Given the description of an element on the screen output the (x, y) to click on. 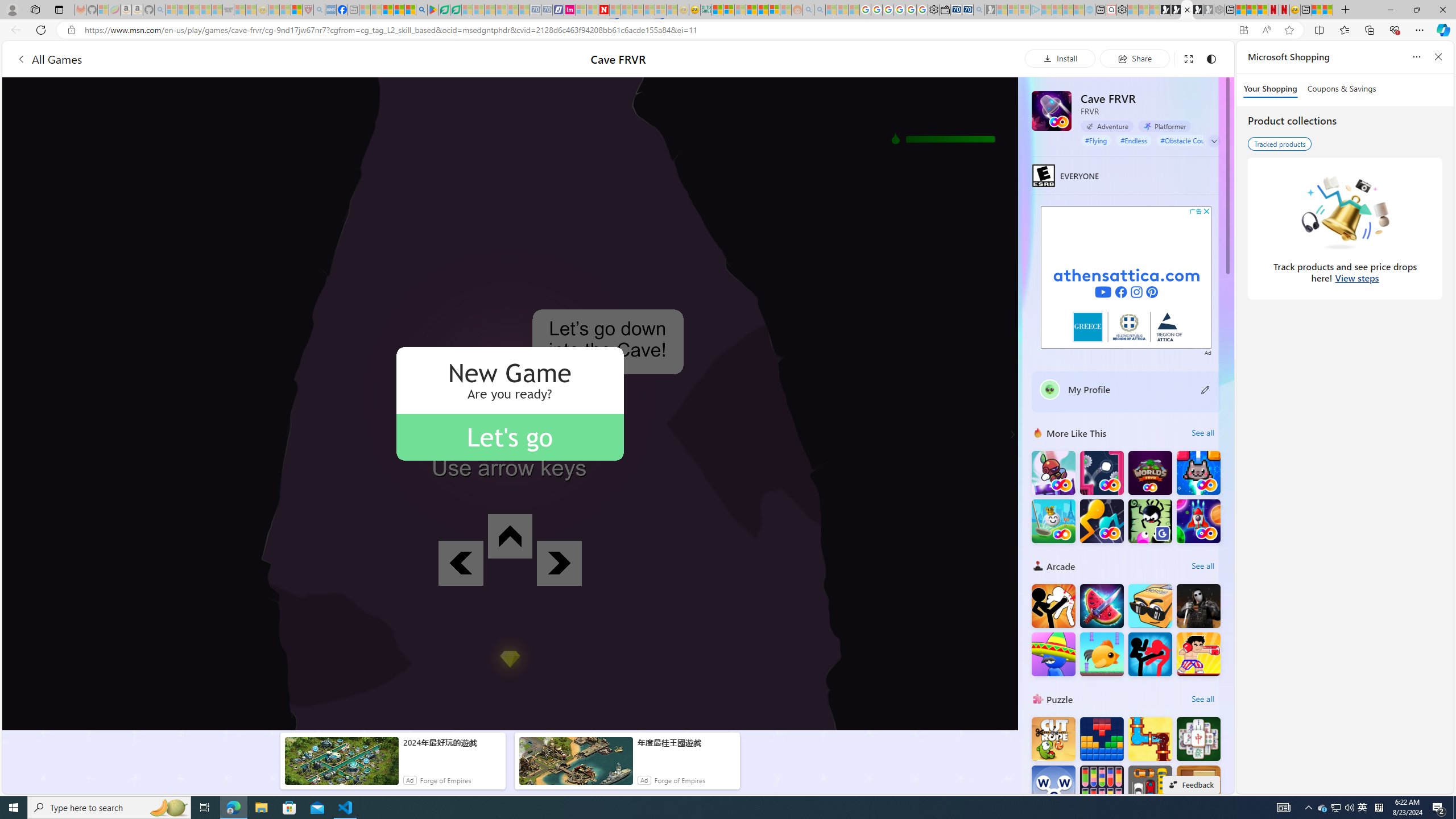
Words of Wonders (1053, 787)
Kitten Force FRVR (1198, 472)
Worlds FRVR (1149, 472)
#Obstacle Course (1187, 140)
Expert Portfolios (751, 9)
Microsoft-Report a Concern to Bing - Sleeping (103, 9)
Local - MSN (296, 9)
The Weather Channel - MSN - Sleeping (194, 9)
